Given the description of an element on the screen output the (x, y) to click on. 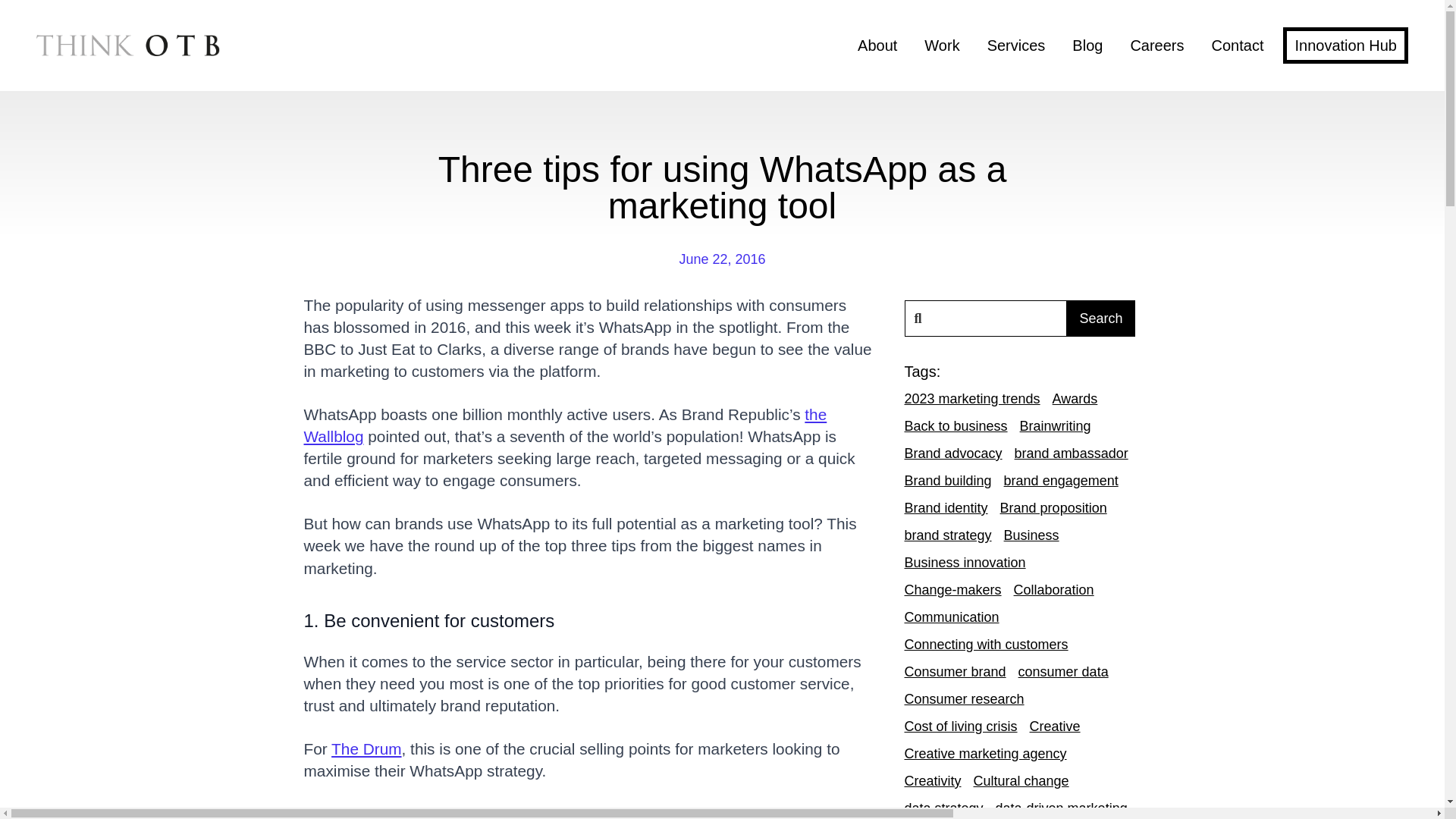
The Drum (366, 748)
Back to business (955, 425)
brand engagement (1061, 480)
2023 marketing trends (971, 398)
Search (1100, 318)
Brand building (947, 480)
Brand proposition (1053, 507)
brand strategy (947, 535)
the Wallblog (564, 425)
Brand advocacy (952, 453)
Blog (1086, 45)
Brainwriting (1055, 425)
Awards (1074, 398)
Change-makers (952, 589)
Services (1015, 45)
